Given the description of an element on the screen output the (x, y) to click on. 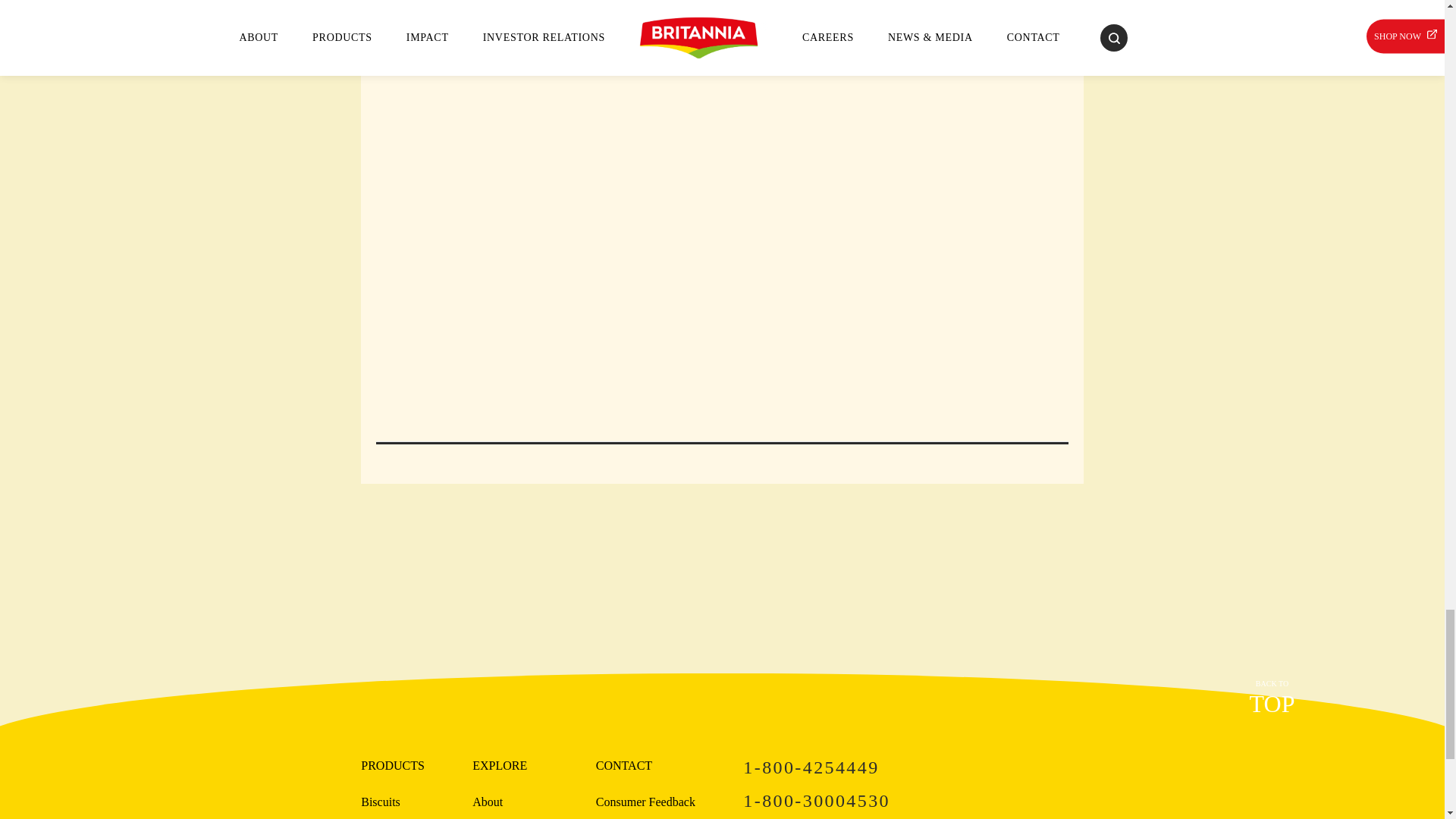
About (486, 802)
1-800-30004530 (912, 800)
Consumer Feedback (1271, 699)
1-800-4254449 (645, 802)
Biscuits (912, 767)
